Given the description of an element on the screen output the (x, y) to click on. 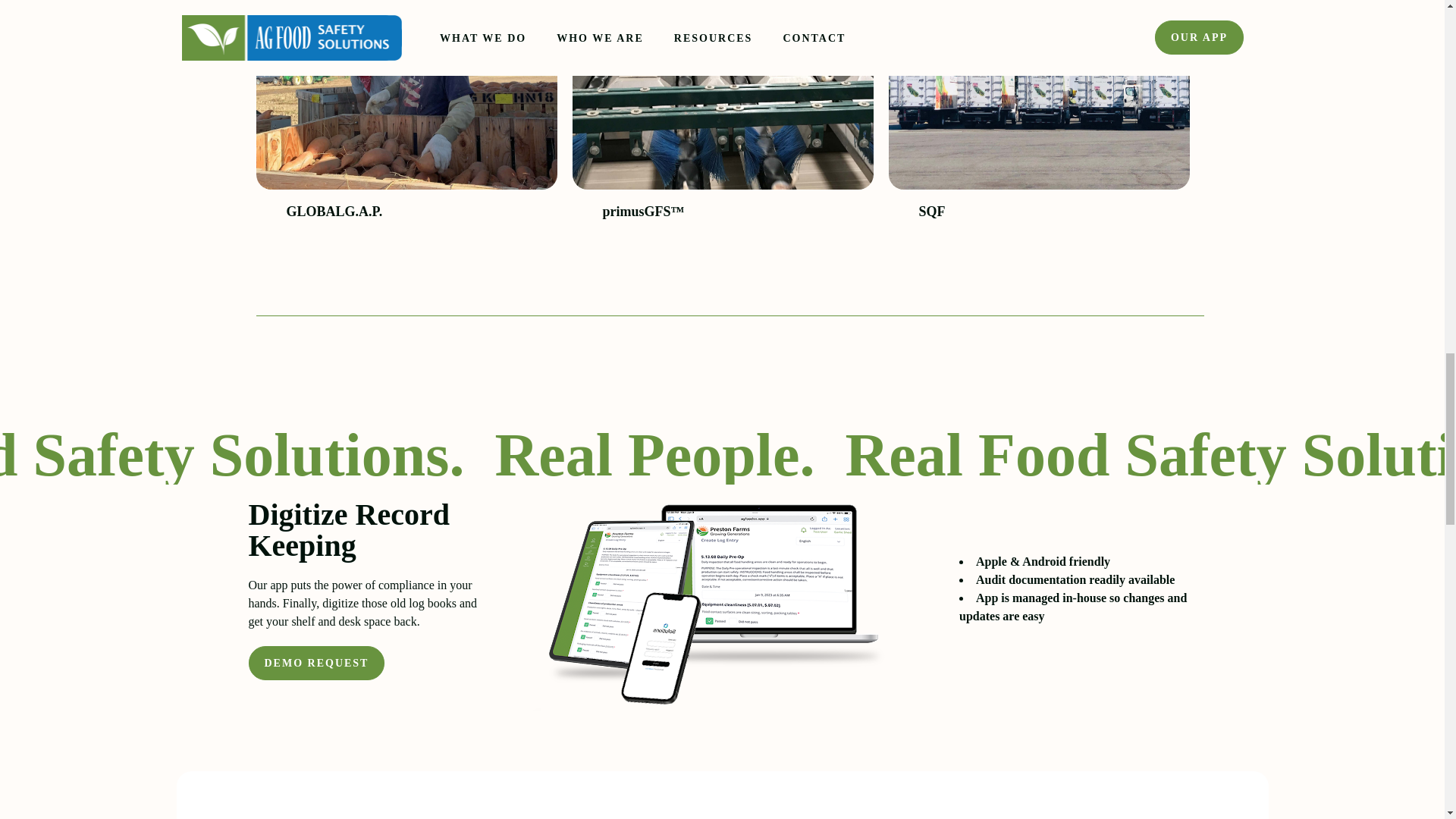
DEMO REQUEST (316, 663)
